Given the description of an element on the screen output the (x, y) to click on. 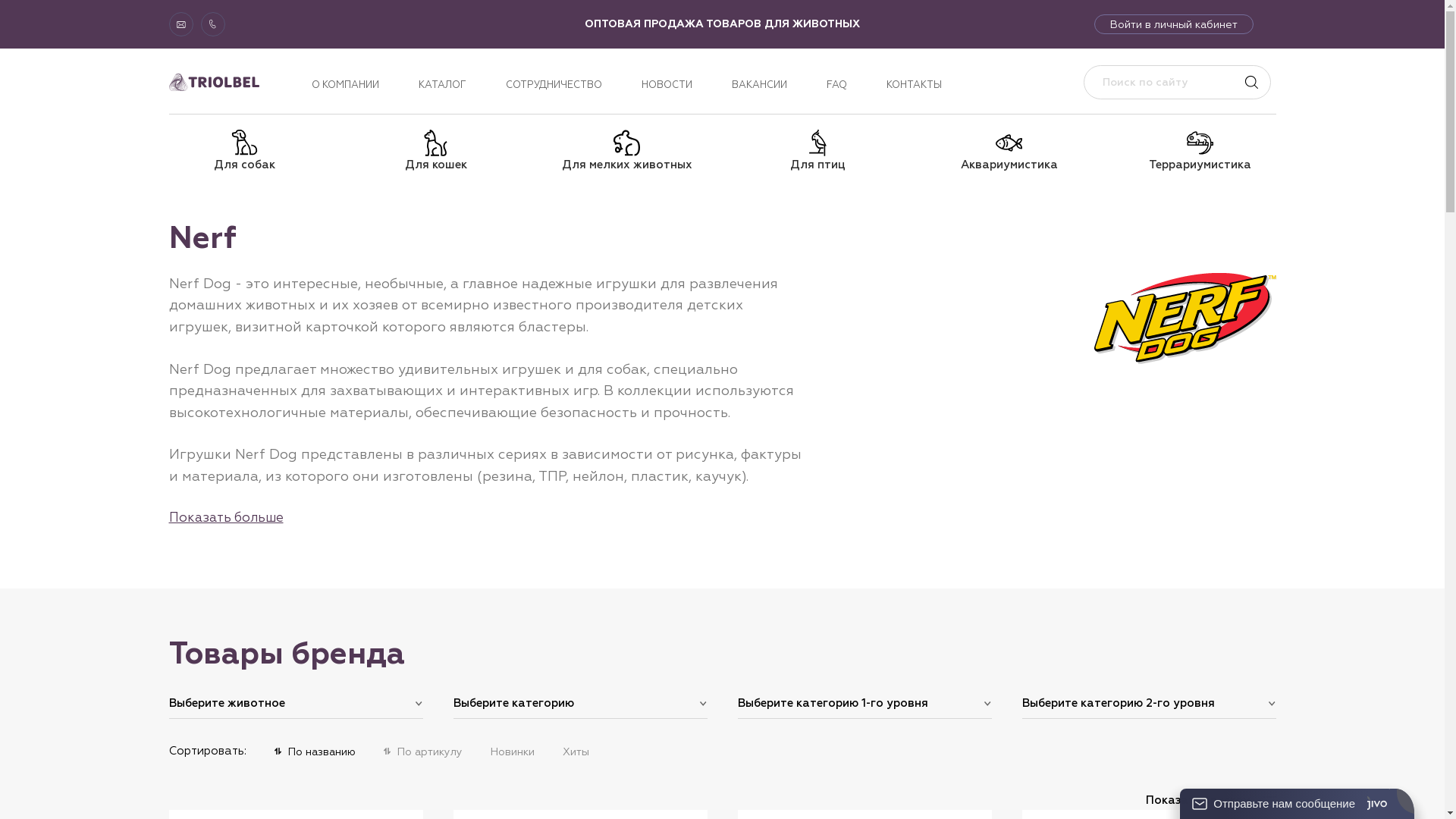
FAQ Element type: text (836, 84)
